Given the description of an element on the screen output the (x, y) to click on. 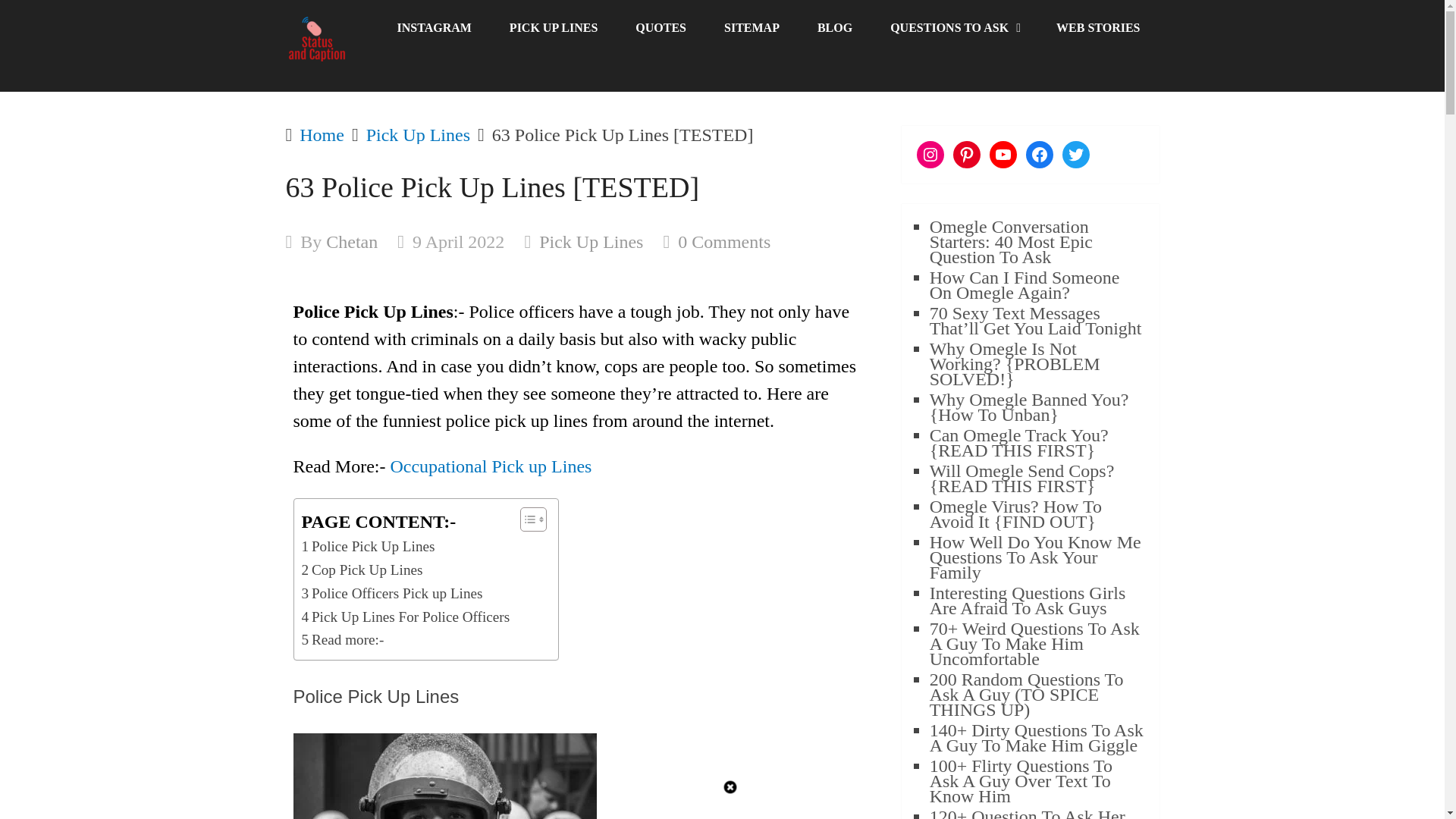
INSTAGRAM (433, 28)
Police Pick Up Lines (368, 546)
QUOTES (659, 28)
BLOG (833, 28)
Pick Up Lines (590, 241)
0 Comments (724, 241)
Read more:- (342, 639)
SITEMAP (750, 28)
Home (321, 134)
Cop Pick Up Lines (362, 570)
Pick Up Lines (418, 134)
Police Pick Up Lines (368, 546)
Posts by Chetan (351, 241)
Read more:- (342, 639)
Pick Up Lines For Police Officers (406, 617)
